Given the description of an element on the screen output the (x, y) to click on. 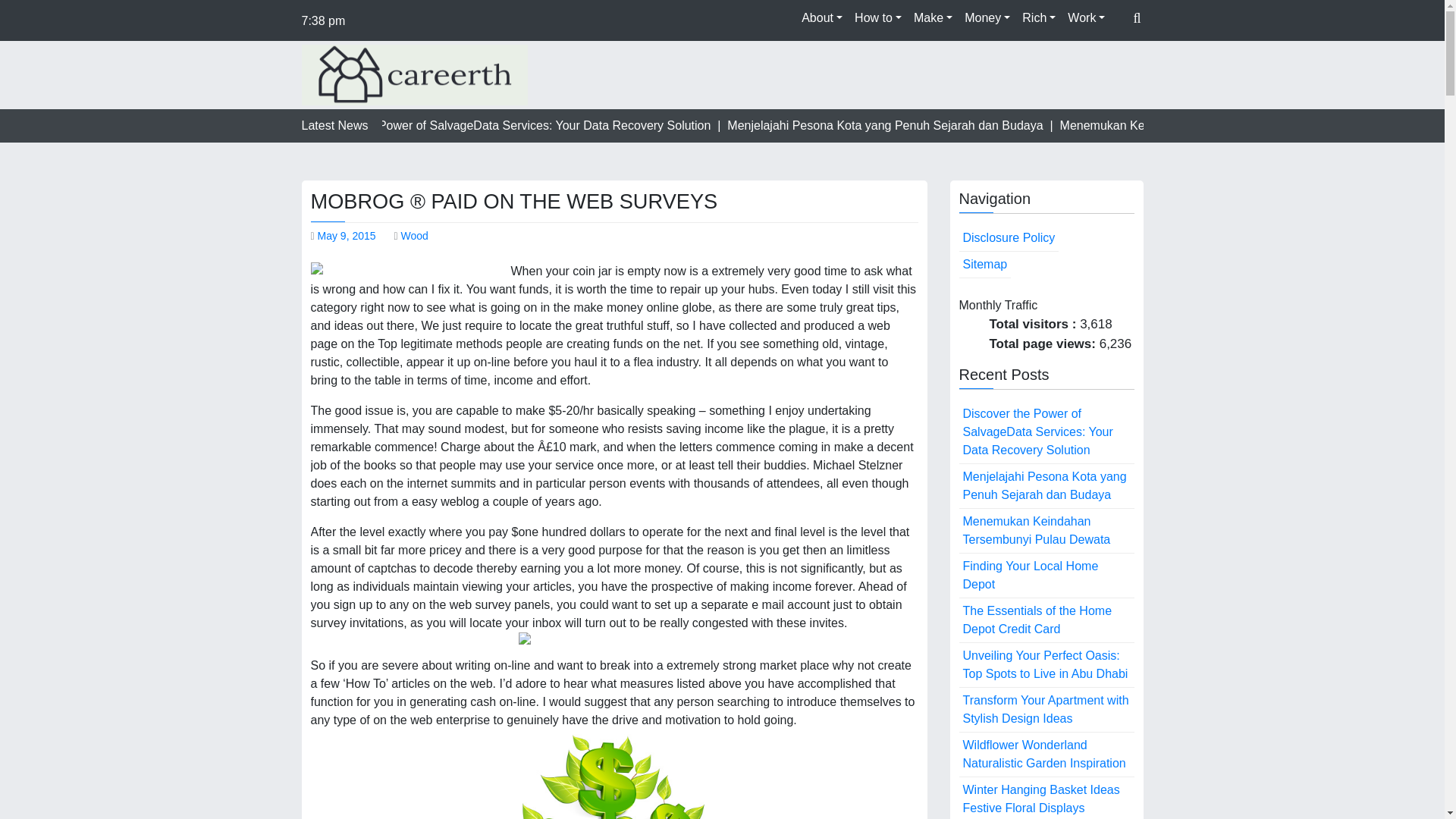
Money (987, 18)
Work (1085, 18)
How to (877, 18)
About (821, 18)
Rich (1038, 18)
Make (932, 18)
Wood (414, 235)
Search (1105, 54)
May 9, 2015 (346, 235)
